Given the description of an element on the screen output the (x, y) to click on. 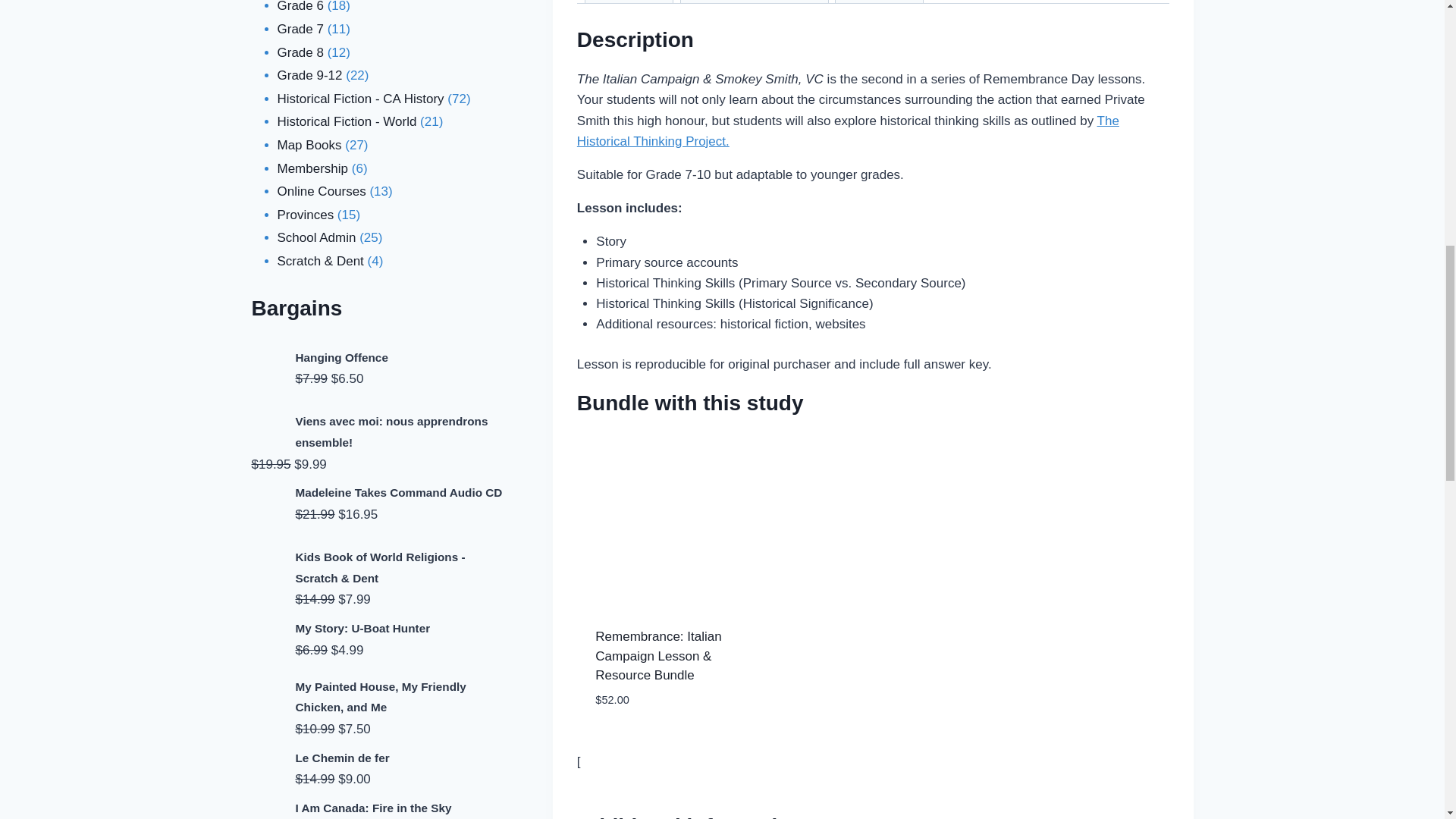
Historical Thinking Project (847, 130)
Additional information (754, 1)
The Historical Thinking Project. (847, 130)
Description (628, 1)
